Given the description of an element on the screen output the (x, y) to click on. 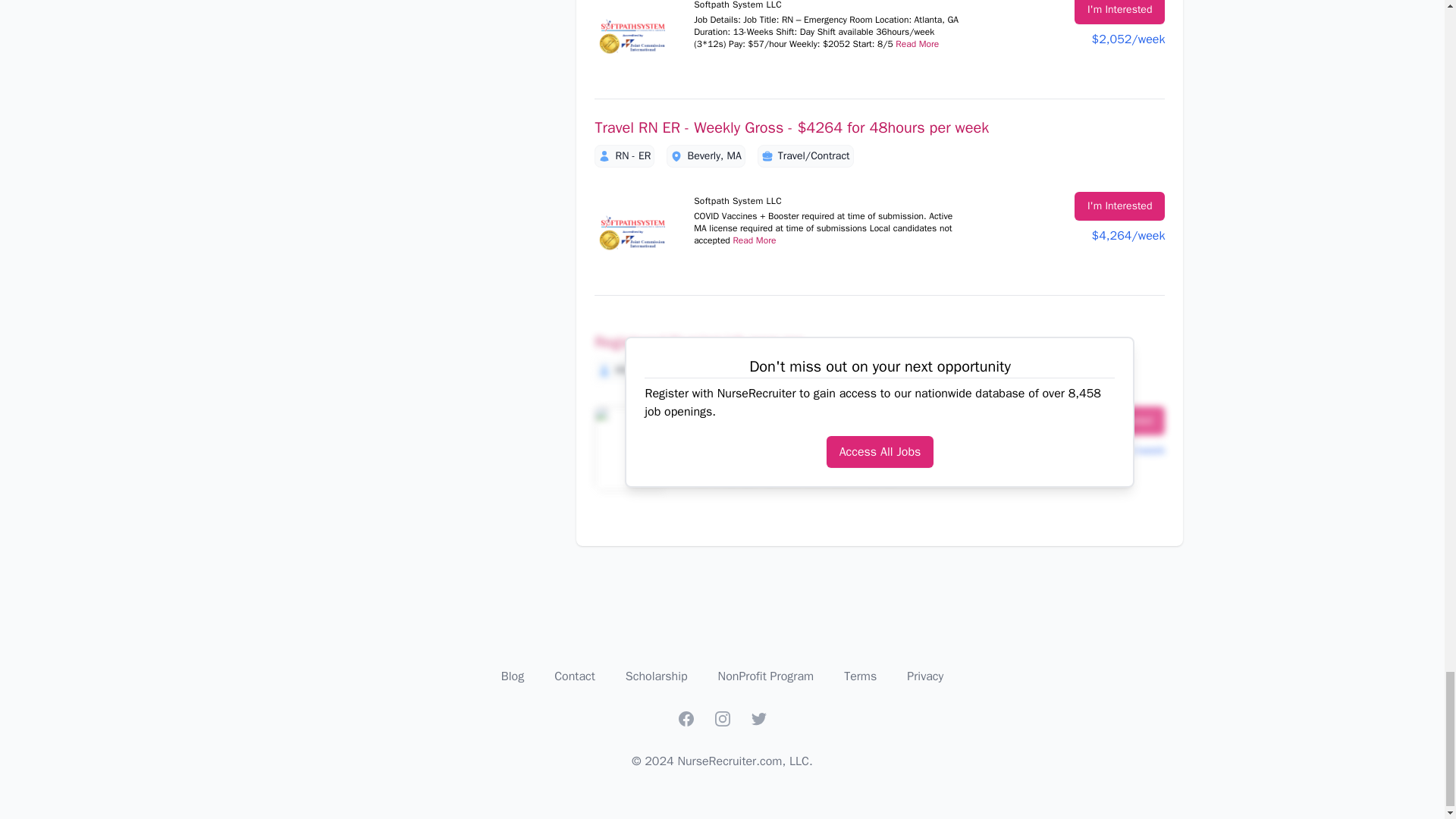
Softpath System LLC (631, 40)
